Given the description of an element on the screen output the (x, y) to click on. 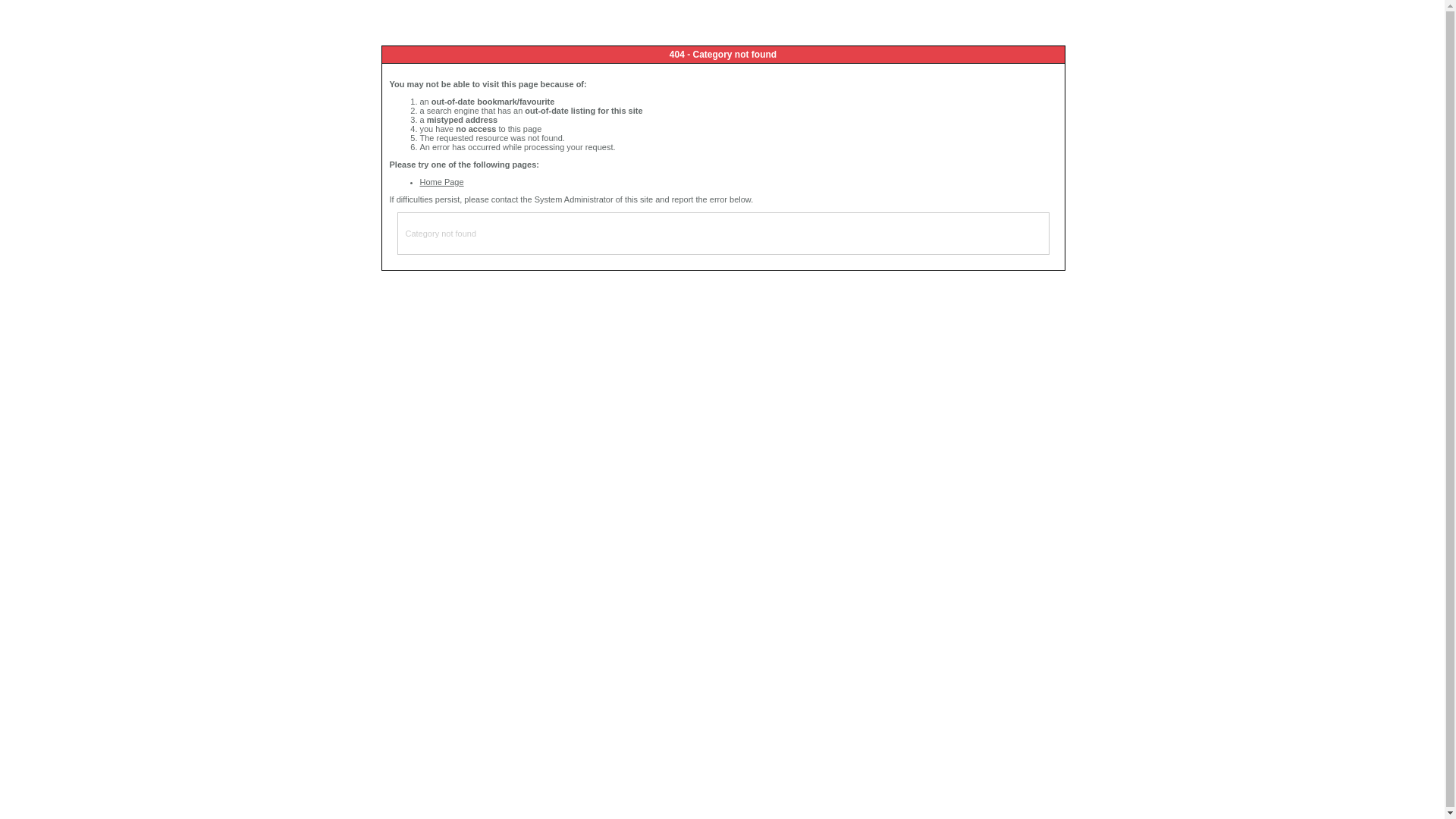
Home Page Element type: text (442, 181)
